Given the description of an element on the screen output the (x, y) to click on. 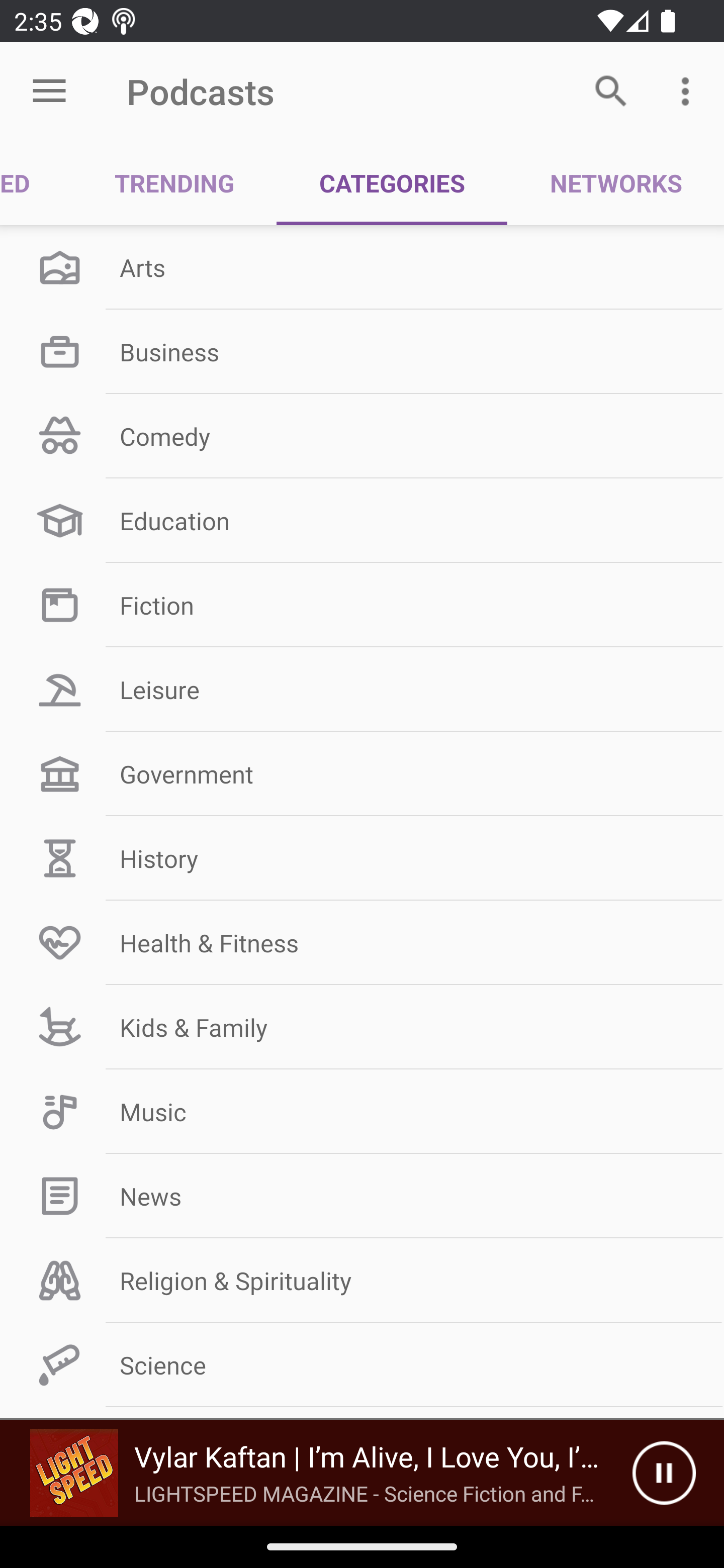
Open menu (49, 91)
Search (611, 90)
More options (688, 90)
TRENDING (174, 183)
CATEGORIES (391, 183)
NETWORKS (615, 183)
Arts (362, 266)
Business (362, 350)
Comedy (362, 435)
Education (362, 520)
Fiction (362, 604)
Leisure (362, 689)
Government (362, 774)
History (362, 858)
Health & Fitness (362, 942)
Kids & Family (362, 1026)
Music (362, 1111)
News (362, 1196)
Religion & Spirituality (362, 1280)
Science (362, 1364)
Pause (663, 1472)
